Given the description of an element on the screen output the (x, y) to click on. 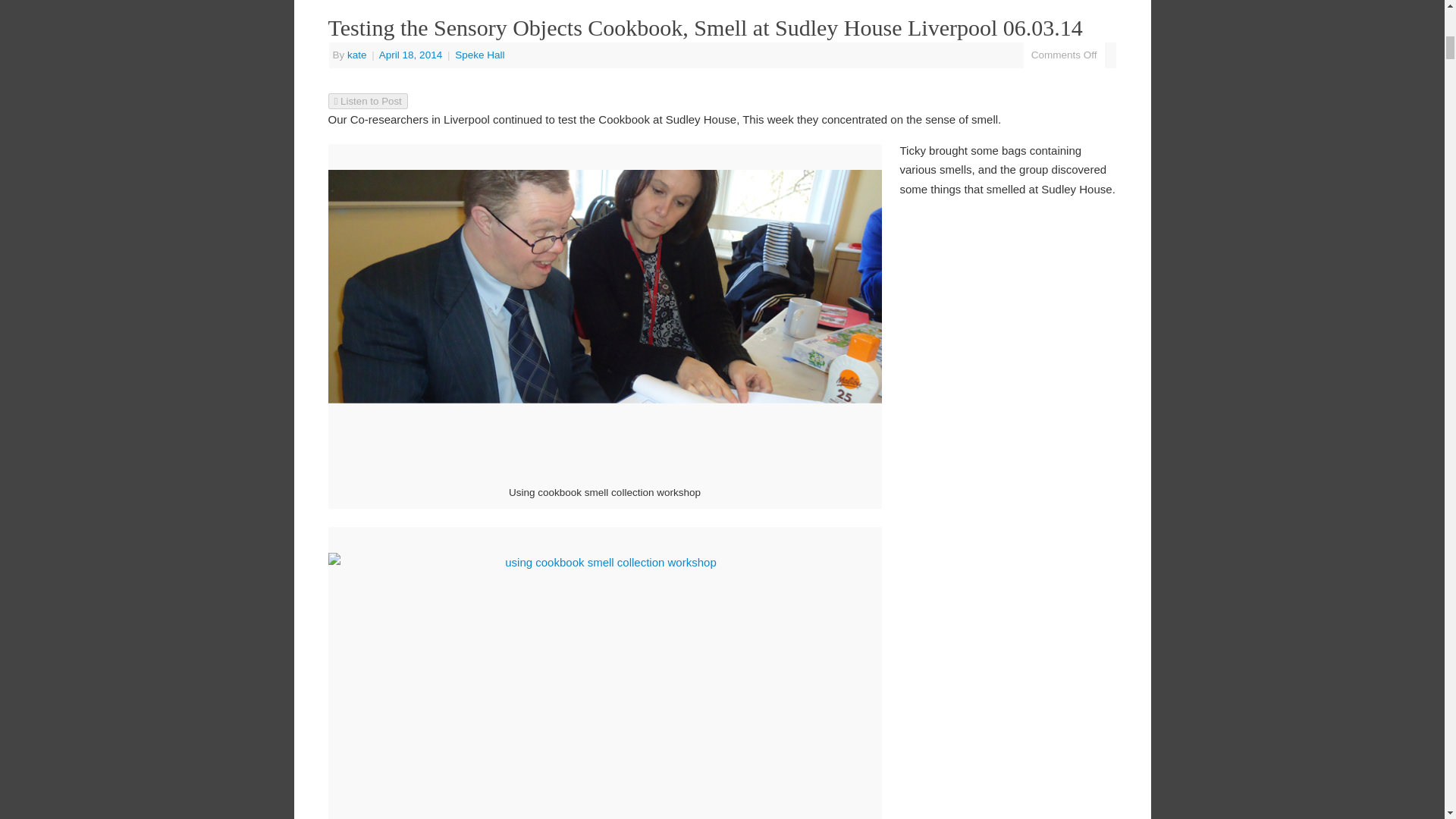
View all posts by kate (356, 54)
kate (356, 54)
Speke Hall (478, 54)
7:00 pm (411, 54)
April 18, 2014 (411, 54)
